Given the description of an element on the screen output the (x, y) to click on. 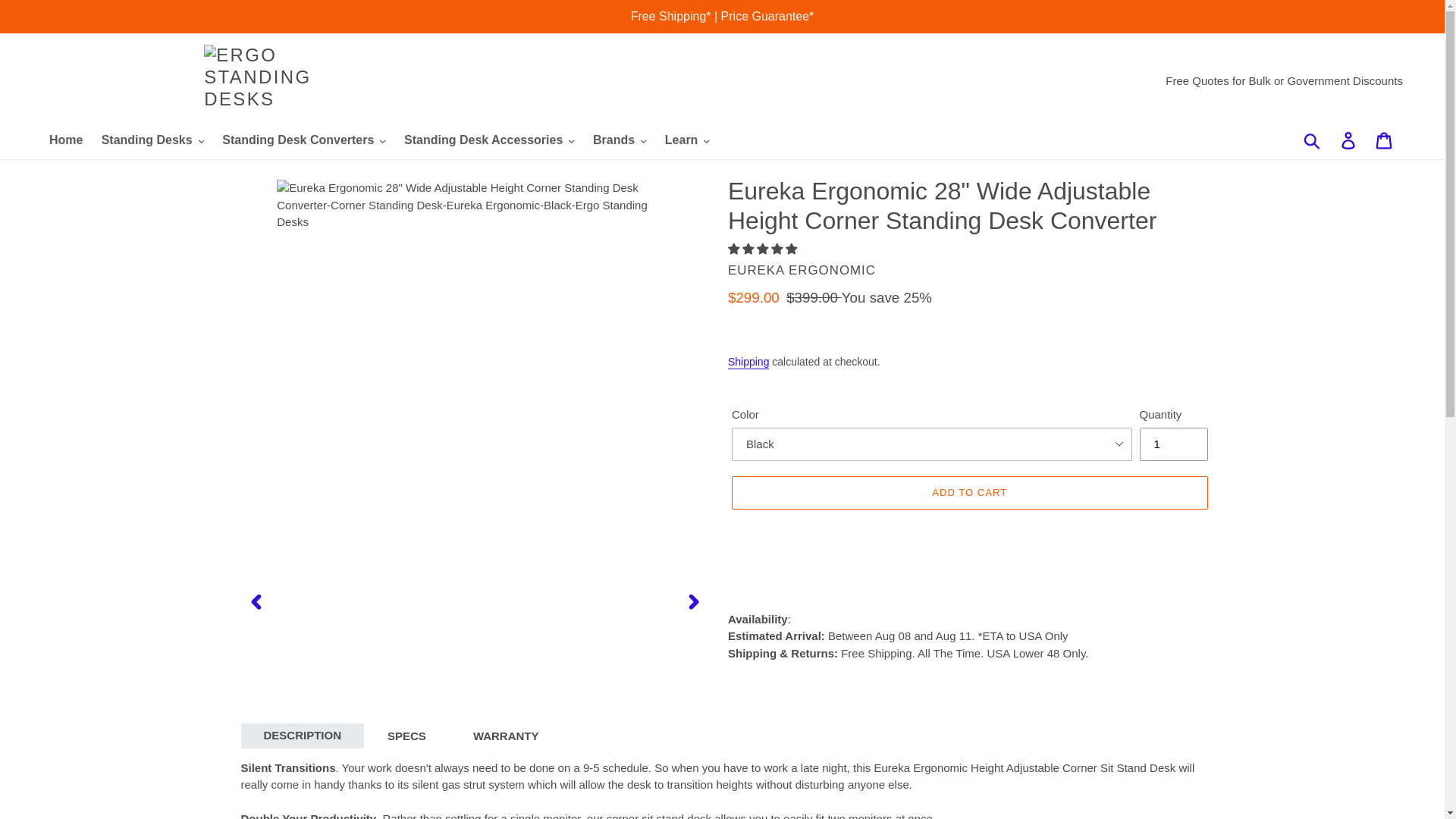
Home (66, 139)
1 (1172, 444)
